Given the description of an element on the screen output the (x, y) to click on. 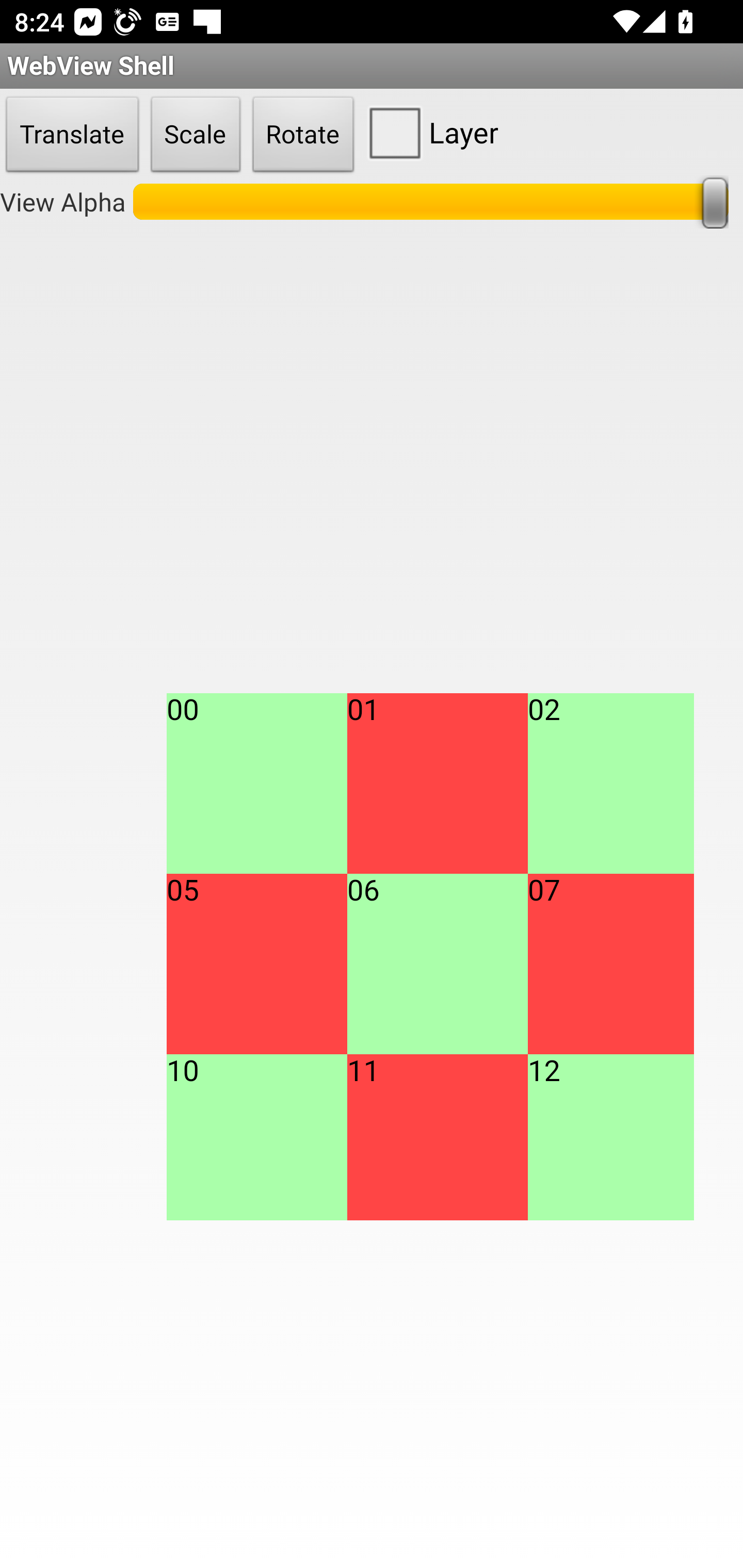
Layer (429, 132)
Translate (72, 135)
Scale (195, 135)
Rotate (303, 135)
